Given the description of an element on the screen output the (x, y) to click on. 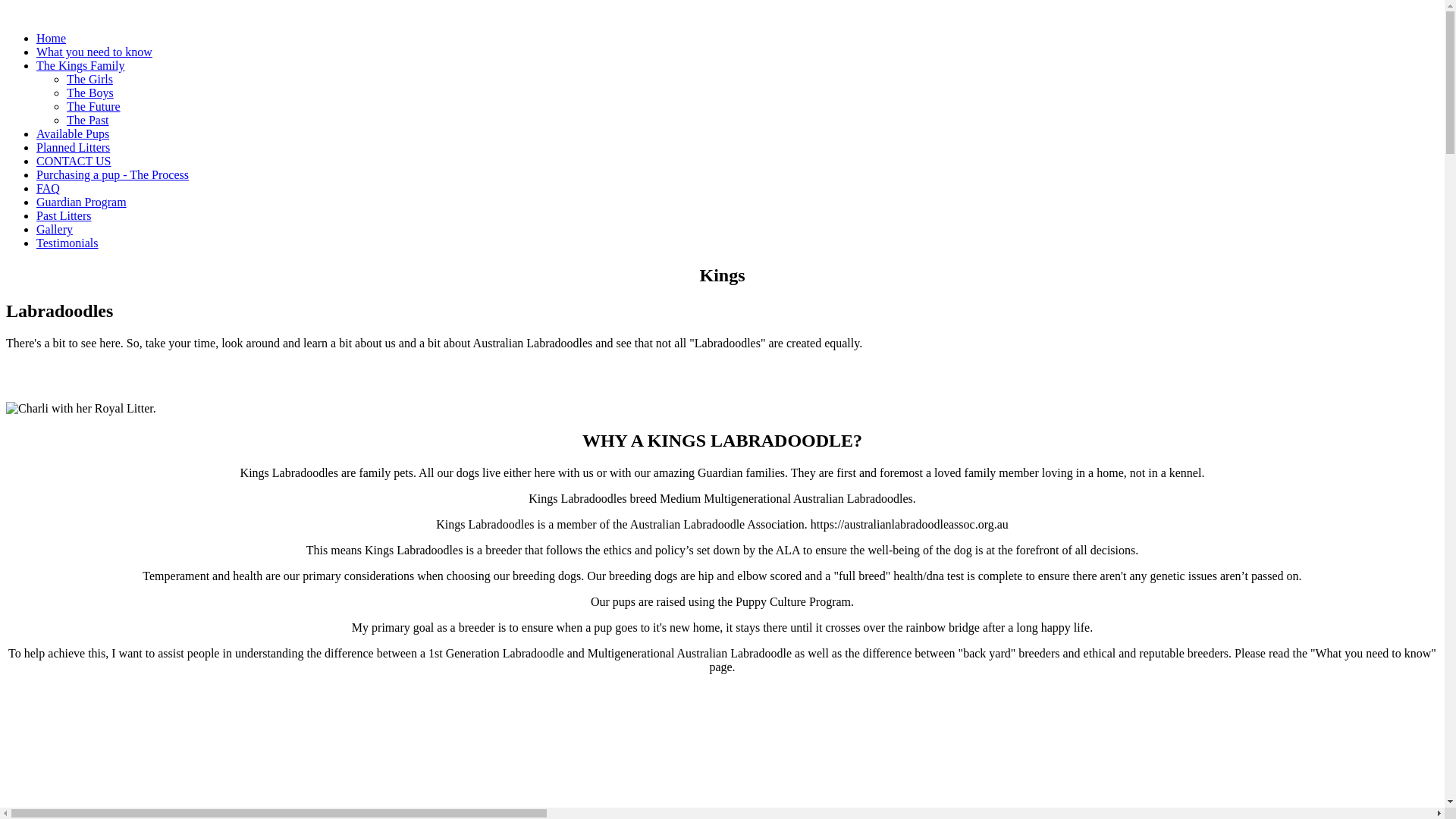
Past Litters Element type: text (63, 215)
The Past Element type: text (87, 119)
Purchasing a pup - The Process Element type: text (112, 174)
CONTACT US Element type: text (73, 160)
The Girls Element type: text (89, 78)
FAQ Element type: text (47, 188)
The Boys Element type: text (89, 92)
The Kings Family Element type: text (80, 65)
Testimonials Element type: text (67, 242)
Planned Litters Element type: text (72, 147)
What you need to know Element type: text (94, 51)
Gallery Element type: text (54, 228)
Home Element type: text (50, 37)
Available Pups Element type: text (72, 133)
Guardian Program Element type: text (81, 201)
The Future Element type: text (93, 106)
